Given the description of an element on the screen output the (x, y) to click on. 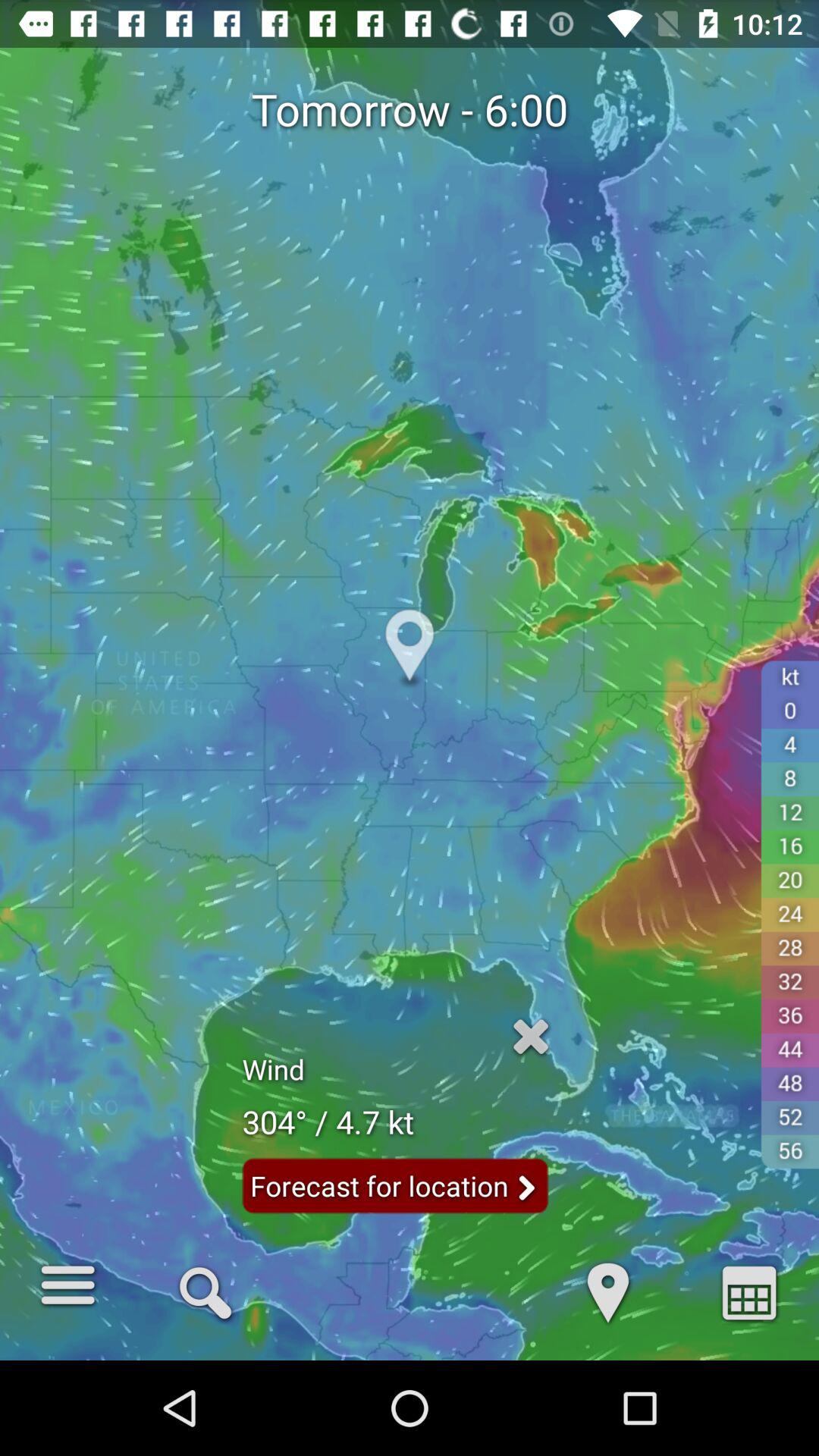
turn off the icon to the right of d item (205, 1291)
